Given the description of an element on the screen output the (x, y) to click on. 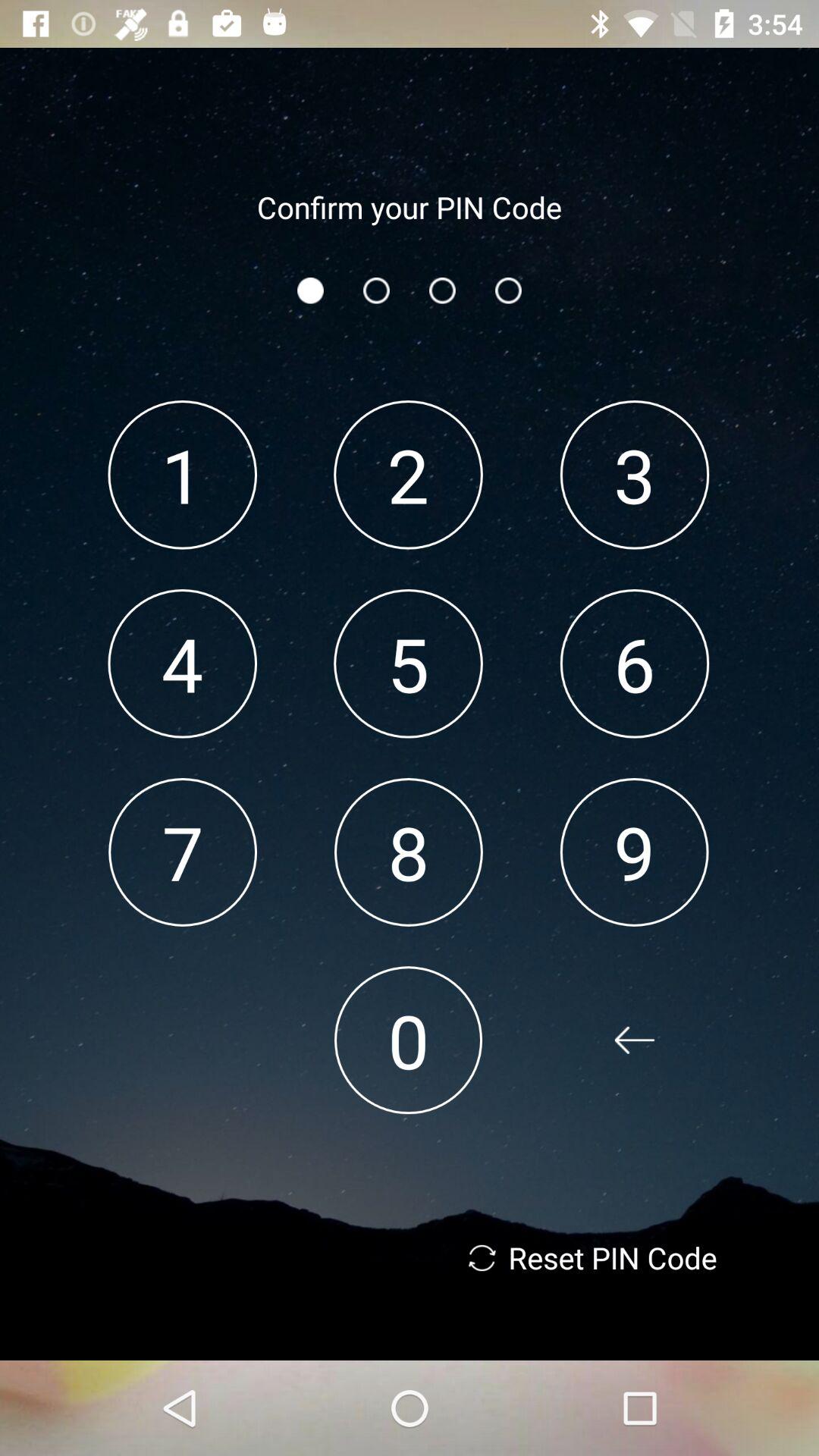
select the app below 1 icon (182, 663)
